Given the description of an element on the screen output the (x, y) to click on. 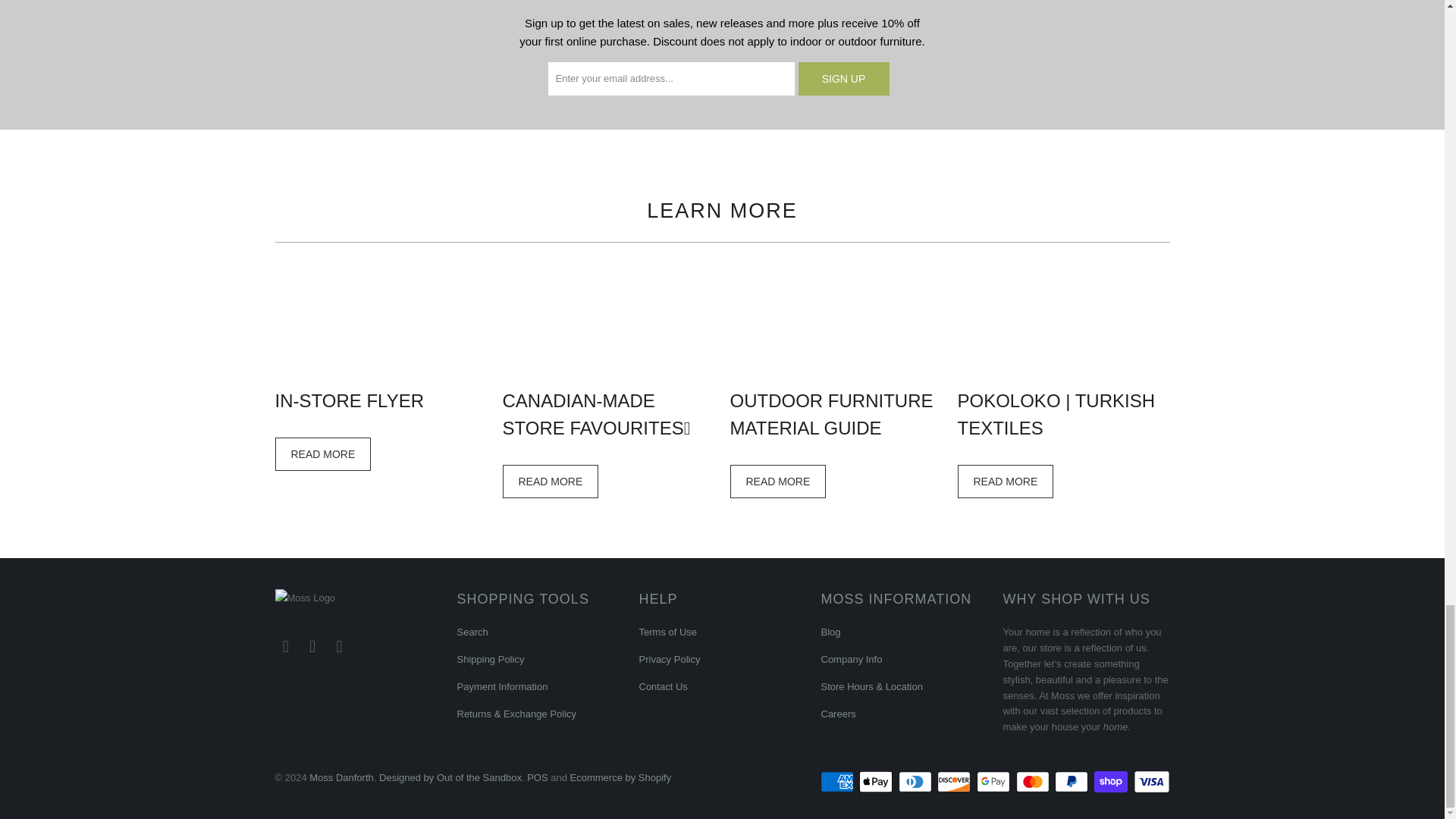
American Express (839, 781)
Mastercard (1034, 781)
Apple Pay (877, 781)
Sign Up (842, 78)
Google Pay (994, 781)
In-Store Flyer (323, 454)
Moss Danforth on Instagram (312, 647)
Visa (1150, 781)
PayPal (1072, 781)
Shop Pay (1112, 781)
Outdoor Furniture Material Guide (777, 481)
Email Moss Danforth (339, 647)
Moss Danforth on Facebook (286, 647)
Diners Club (916, 781)
Discover (955, 781)
